Given the description of an element on the screen output the (x, y) to click on. 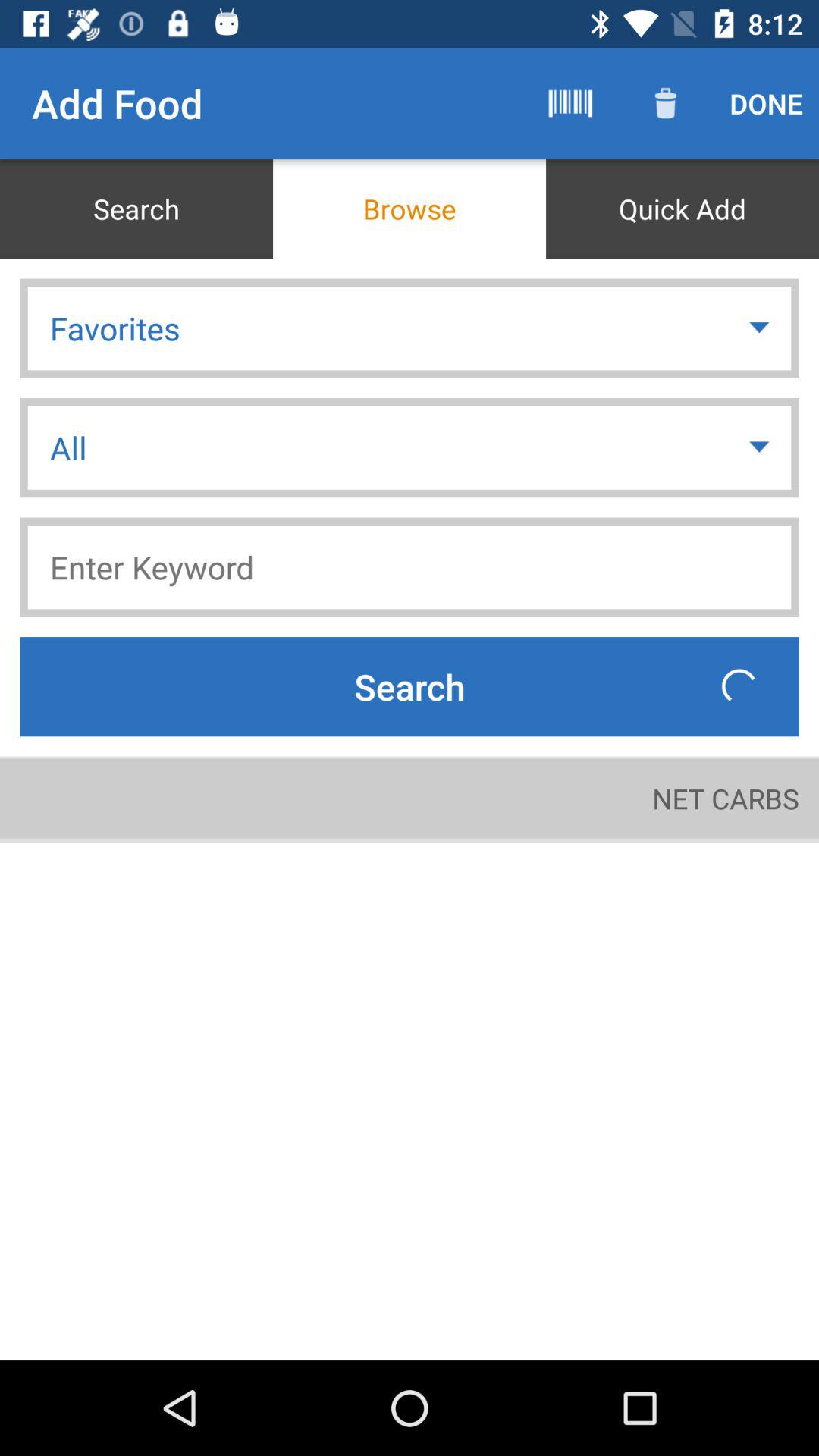
choose item to the right of browse item (682, 208)
